Given the description of an element on the screen output the (x, y) to click on. 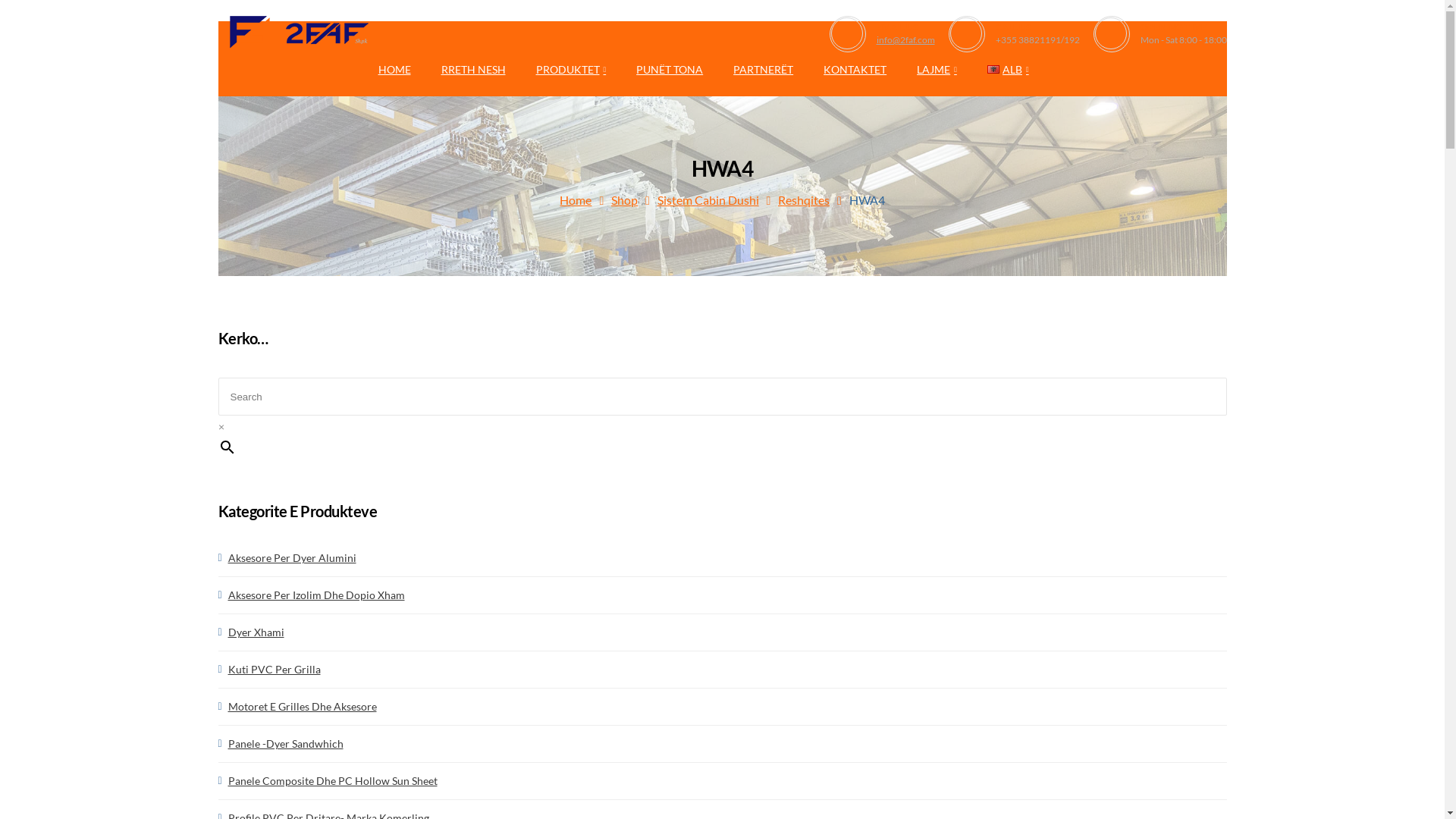
KONTAKTET Element type: text (854, 68)
Motoret E Grilles Dhe Aksesore Element type: text (301, 706)
Panele Composite Dhe PC Hollow Sun Sheet Element type: text (331, 780)
PRODUKTET Element type: text (570, 68)
Reshqites Element type: text (803, 199)
Dyer Xhami Element type: text (255, 632)
HOME Element type: text (393, 68)
Shop Element type: text (624, 199)
LAJME Element type: text (936, 68)
Panele -Dyer Sandwhich Element type: text (284, 743)
Aksesore Per Dyer Alumini Element type: text (291, 557)
Sistem Cabin Dushi Element type: text (707, 199)
Aksesore Per Izolim Dhe Dopio Xham Element type: text (315, 595)
ALB Element type: text (1008, 68)
Home Element type: text (575, 199)
Kuti PVC Per Grilla Element type: text (273, 669)
RRETH NESH Element type: text (473, 68)
ALB Element type: hover (993, 69)
info@2faf.com Element type: text (905, 39)
